Given the description of an element on the screen output the (x, y) to click on. 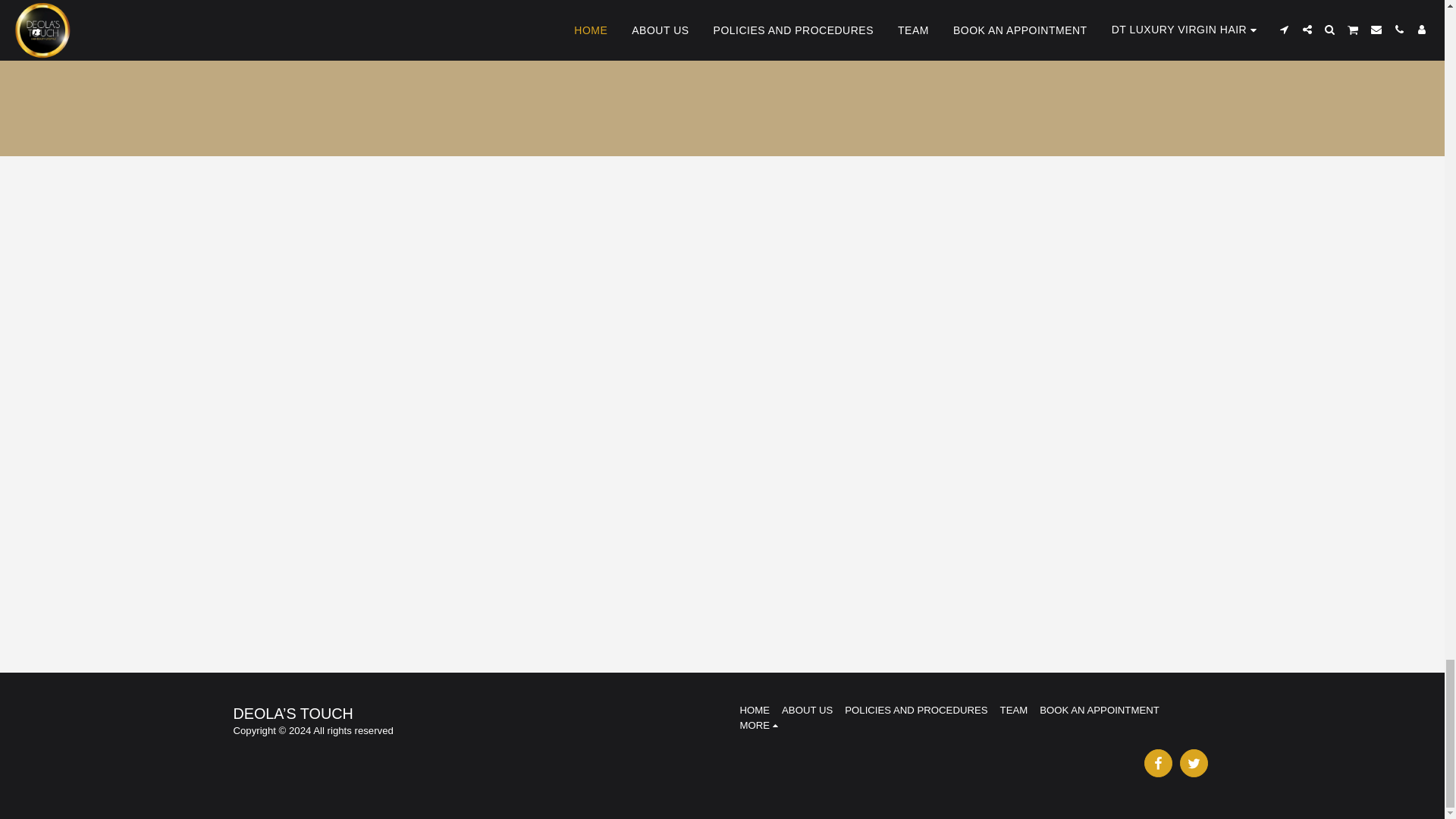
HOME (754, 710)
POLICIES AND PROCEDURES (915, 710)
TEAM (1013, 710)
ABOUT US (806, 710)
